Given the description of an element on the screen output the (x, y) to click on. 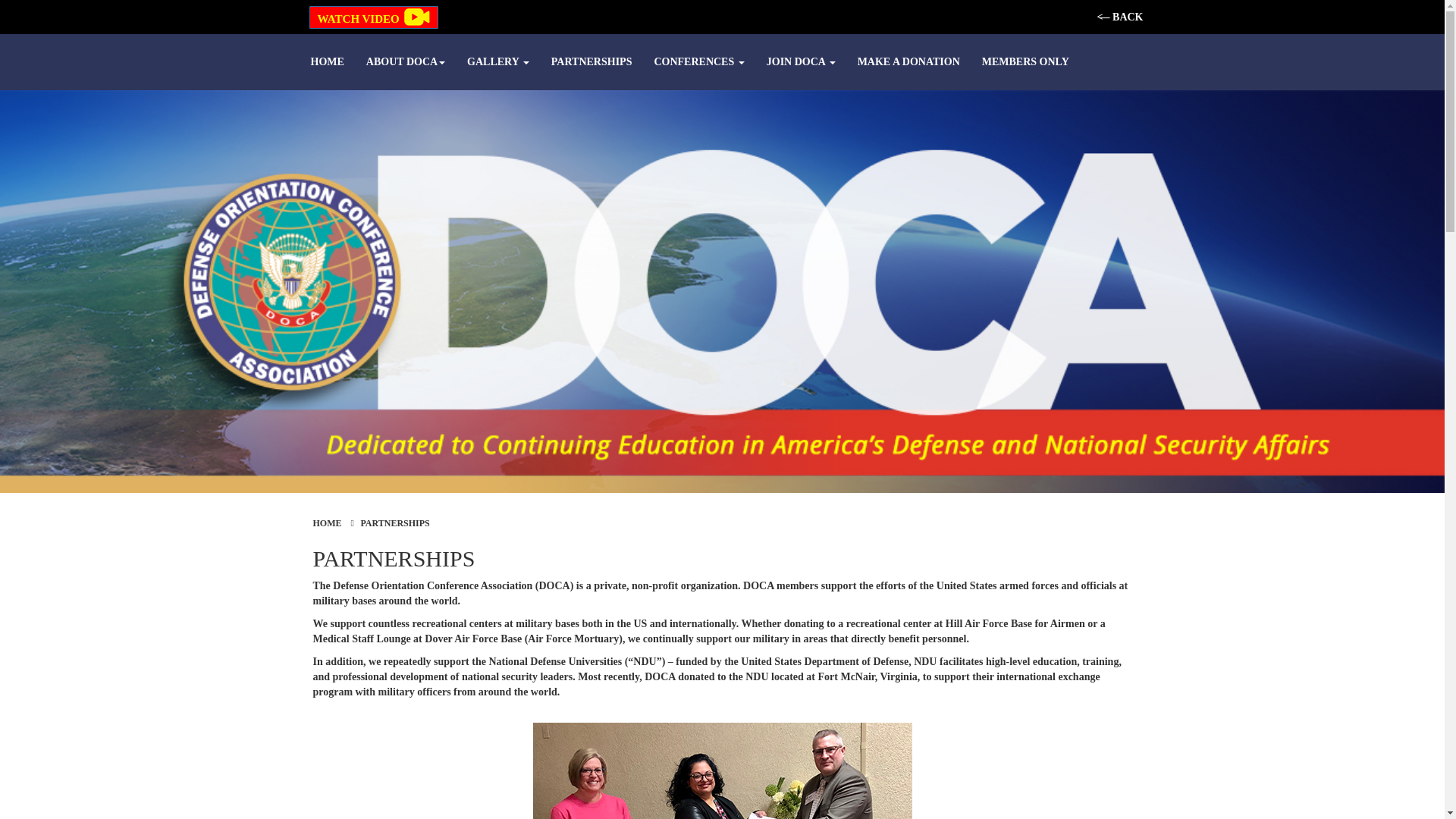
WATCH VIDEO   (373, 16)
GALLERY (498, 62)
CONFERENCES (698, 62)
JOIN DOCA (800, 62)
HOME (327, 62)
ABOUT DOCA (405, 62)
MAKE A DONATION (908, 62)
PARTNERSHIPS (591, 62)
MEMBERS ONLY (1025, 62)
HOME (326, 522)
